Given the description of an element on the screen output the (x, y) to click on. 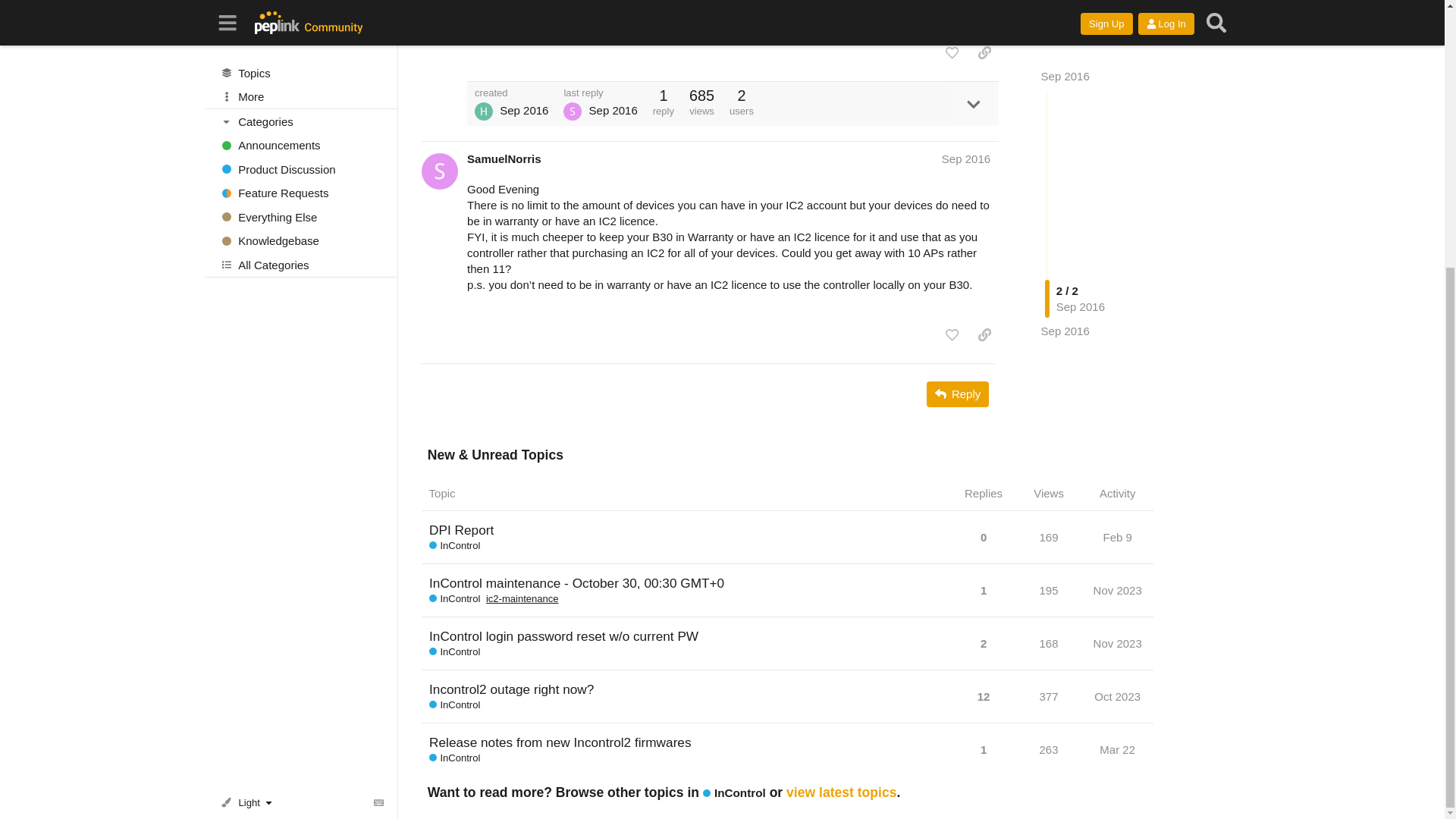
Light (249, 413)
last reply (600, 92)
Keyboard Shortcuts (378, 413)
